Given the description of an element on the screen output the (x, y) to click on. 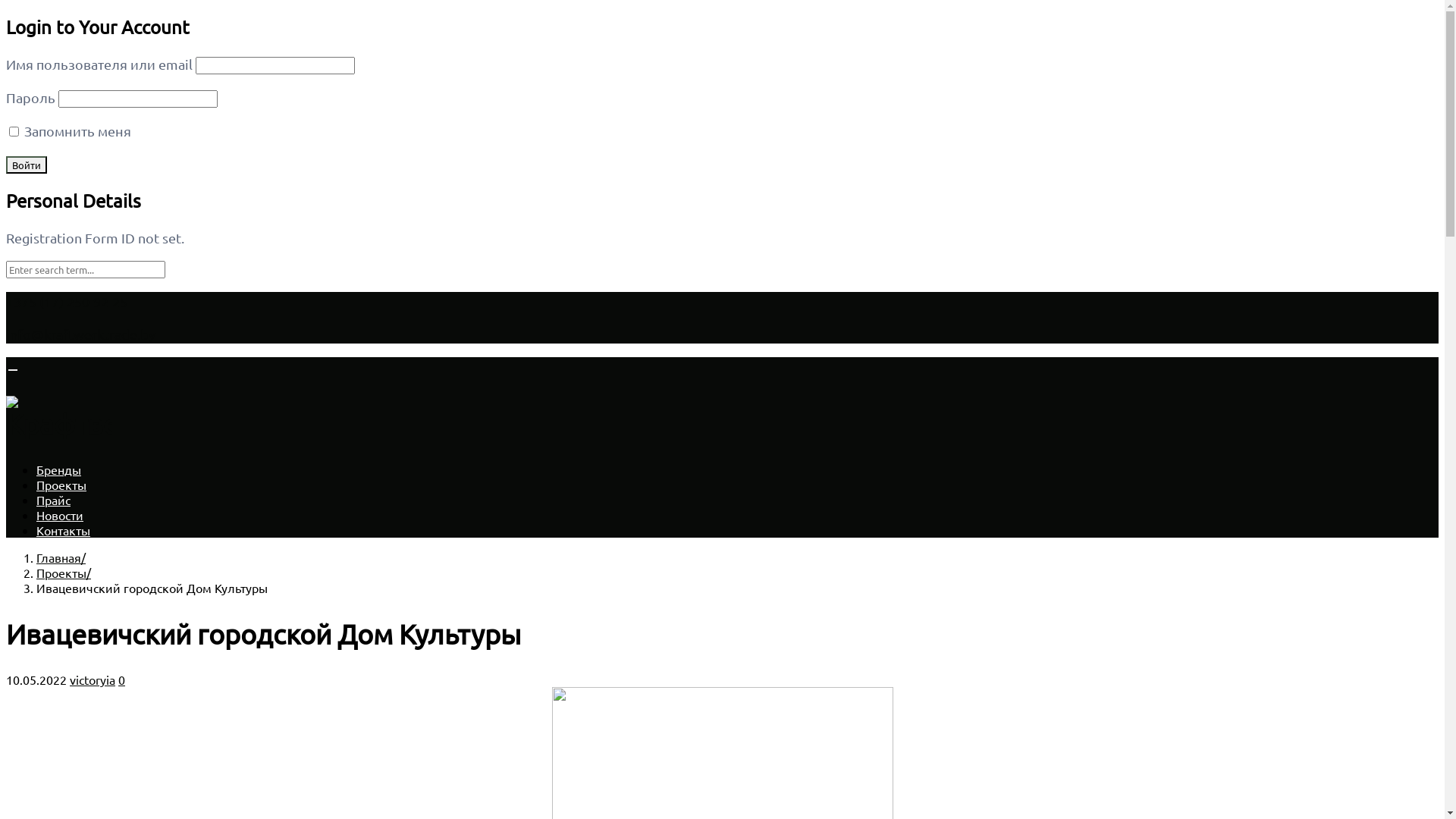
+375 (17) 250-92-25 Element type: text (66, 301)
victoryia Element type: text (92, 679)
info@kraftwerktrade.by Element type: text (80, 334)
0 Element type: text (121, 679)
